Given the description of an element on the screen output the (x, y) to click on. 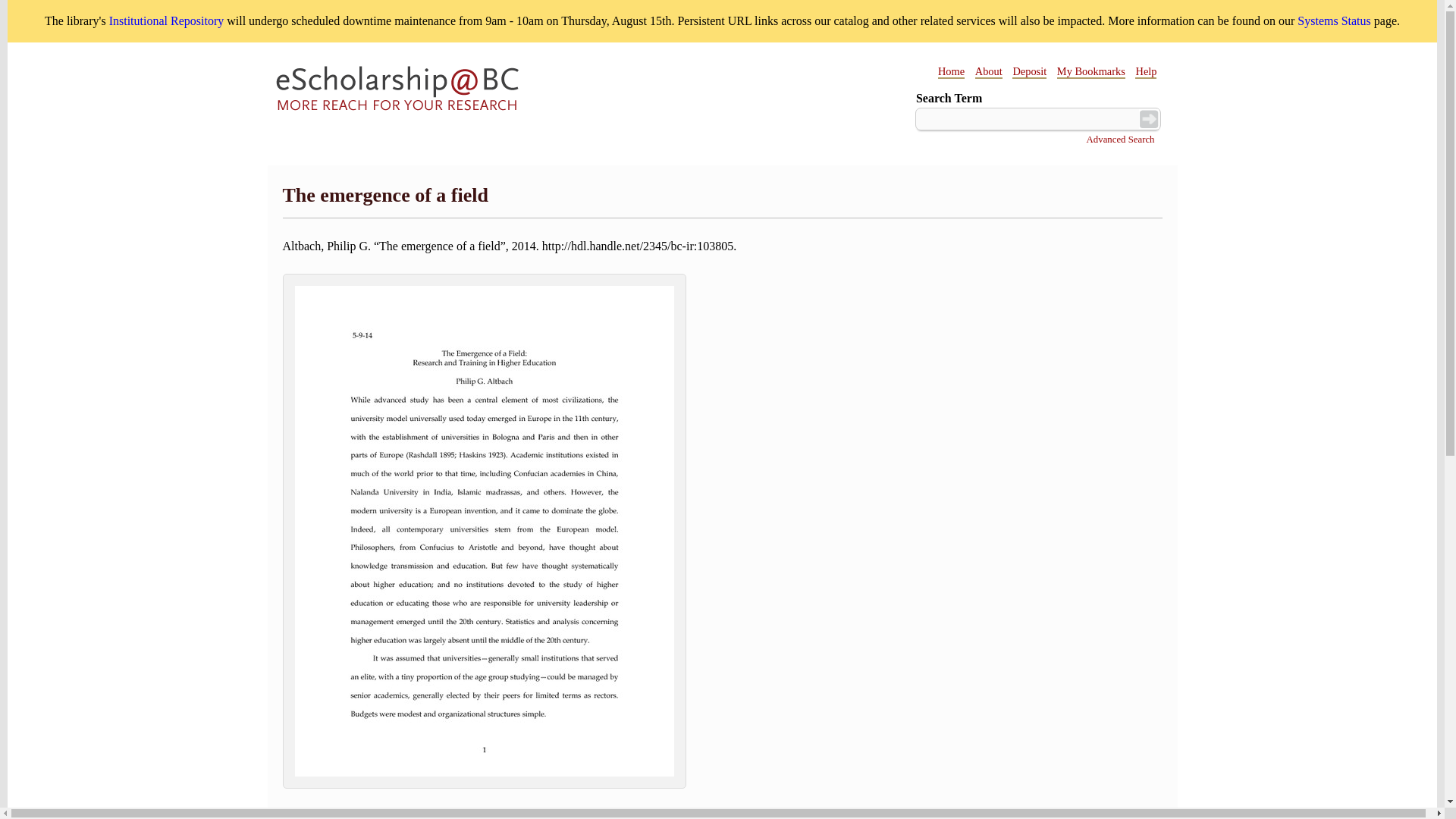
Help (1145, 71)
search (1148, 118)
Home (950, 71)
Advanced Search (1120, 139)
About (989, 71)
Deposit (1028, 71)
Institutional Repository (166, 20)
Systems Status (1333, 20)
PDF Datastream (483, 784)
Home (398, 90)
